Given the description of an element on the screen output the (x, y) to click on. 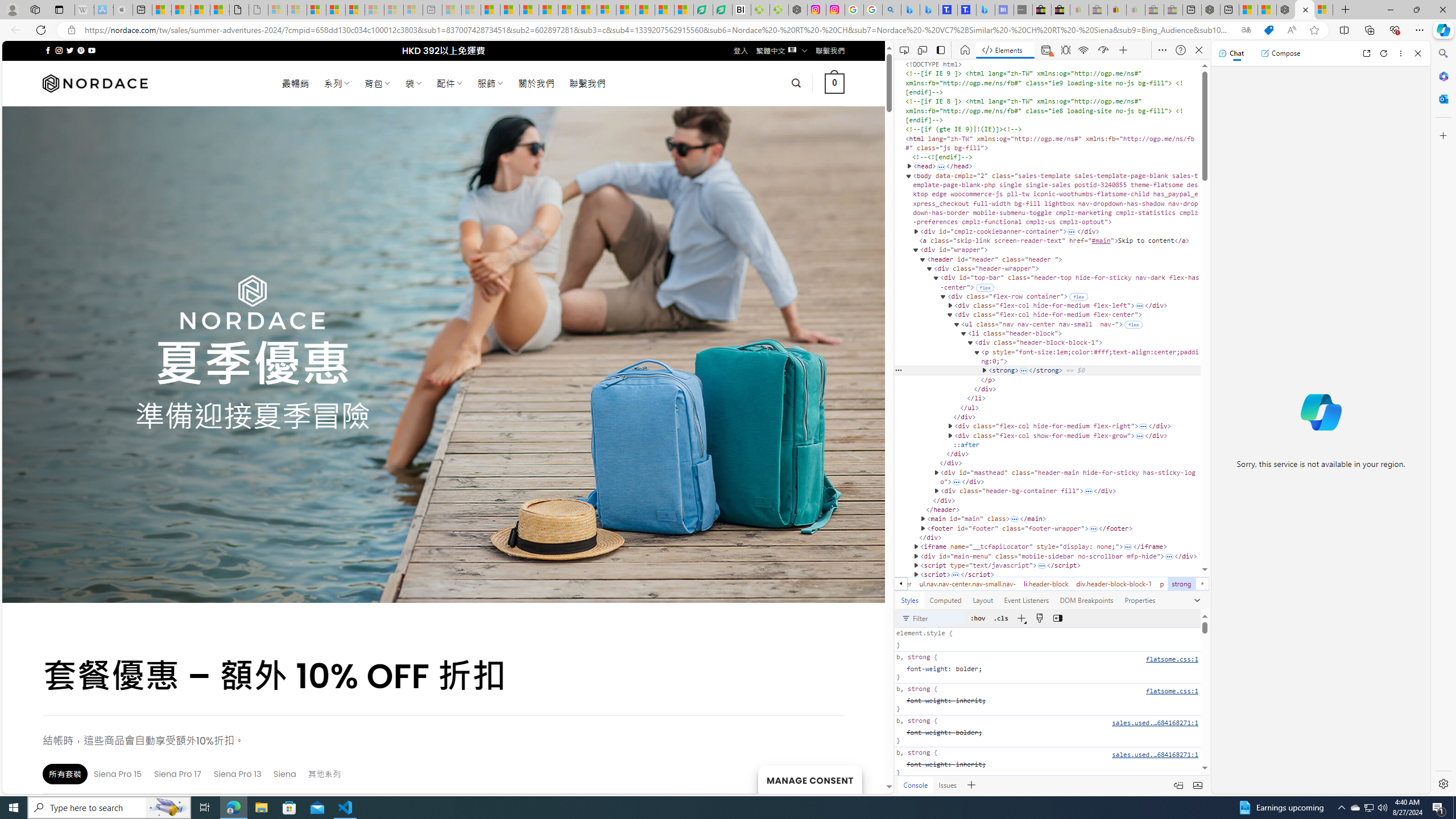
Toggle Element State (977, 617)
Safety in Our Products - Google Safety Center (853, 9)
Copilot (Ctrl+Shift+.) (1442, 29)
div.flex-col.hide-for-medium.flex-center (851, 583)
Threats and offensive language policy | eBay (1116, 9)
Styles (909, 599)
Event Listeners (1026, 599)
Chat (1231, 52)
Siena (284, 773)
